Given the description of an element on the screen output the (x, y) to click on. 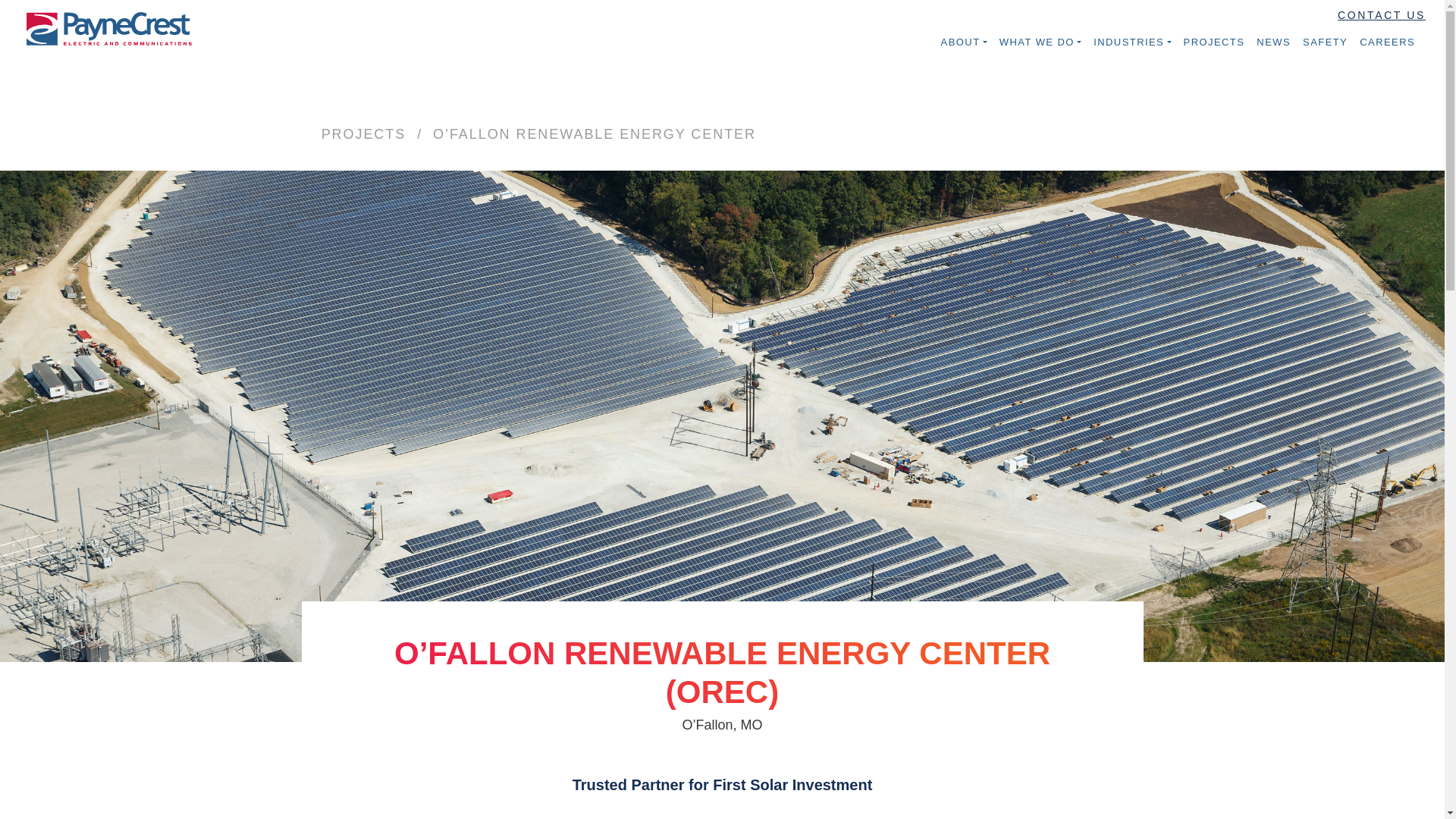
ABOUT (963, 42)
What We Do (1039, 42)
Industries (1131, 42)
CONTACT US (1385, 15)
WHAT WE DO (1039, 42)
PROJECTS (363, 133)
INDUSTRIES (1131, 42)
Skip to main content (14, 3)
NEWS (1273, 42)
CAREERS (1387, 42)
